Given the description of an element on the screen output the (x, y) to click on. 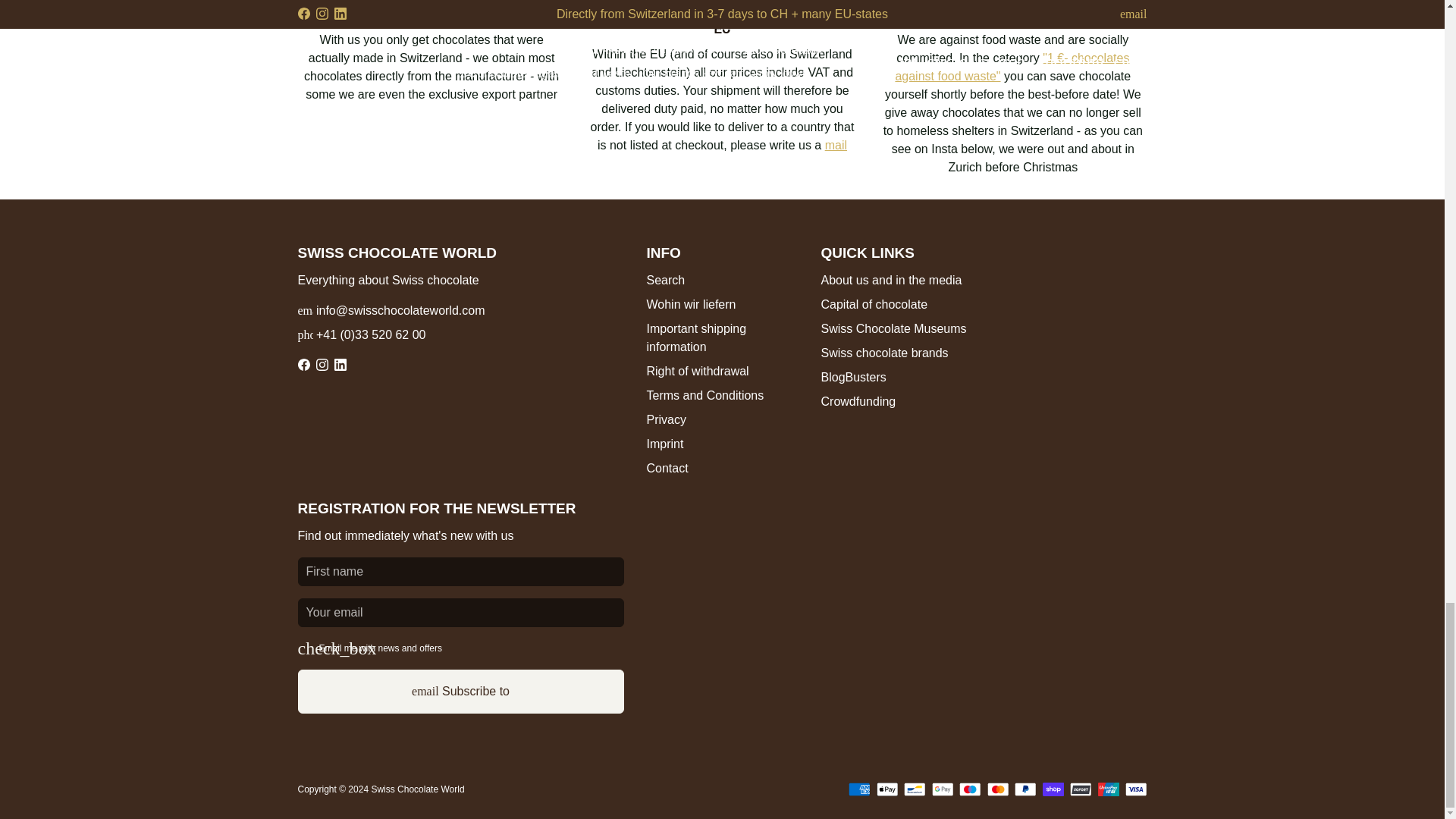
Maestro (970, 789)
Apple Pay (887, 789)
Bancontact (915, 789)
PayPal (1025, 789)
American Express (859, 789)
Visa (1136, 789)
Google Pay (941, 789)
Shop Pay (1052, 789)
SOFORT (1081, 789)
Union Pay (1108, 789)
